Given the description of an element on the screen output the (x, y) to click on. 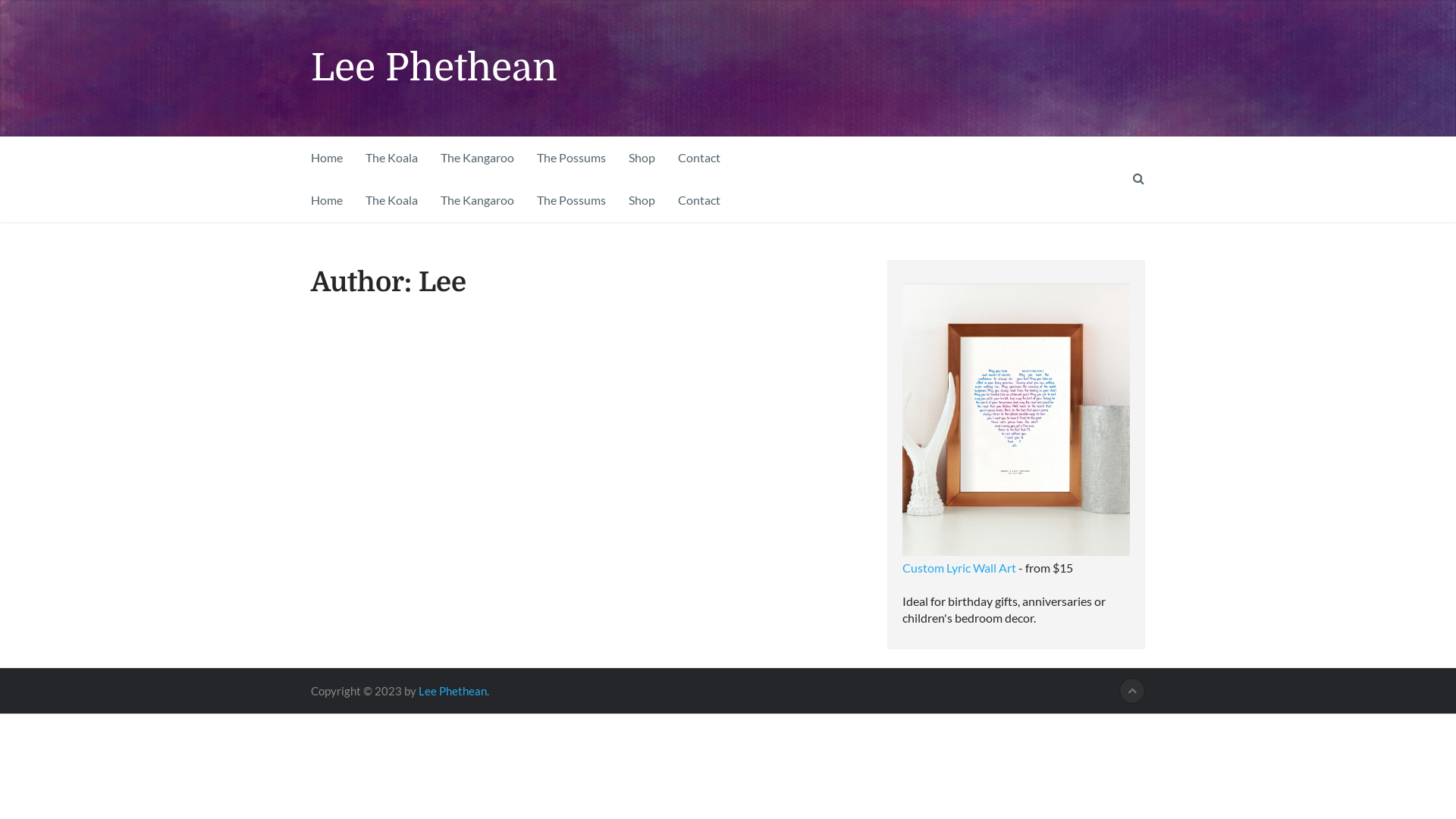
Custom Lyric Wall Art Element type: text (959, 567)
Contact Element type: text (698, 199)
Lee Phethean Element type: text (433, 68)
Shop Element type: text (641, 199)
Lee Phethean Element type: text (452, 690)
The Kangaroo Element type: text (477, 157)
The Kangaroo Element type: text (477, 199)
The Koala Element type: text (391, 157)
Home Element type: text (332, 157)
The Possums Element type: text (571, 199)
Contact Element type: text (698, 157)
The Possums Element type: text (571, 157)
The Koala Element type: text (391, 199)
Shop Element type: text (641, 157)
Home Element type: text (332, 199)
